Given the description of an element on the screen output the (x, y) to click on. 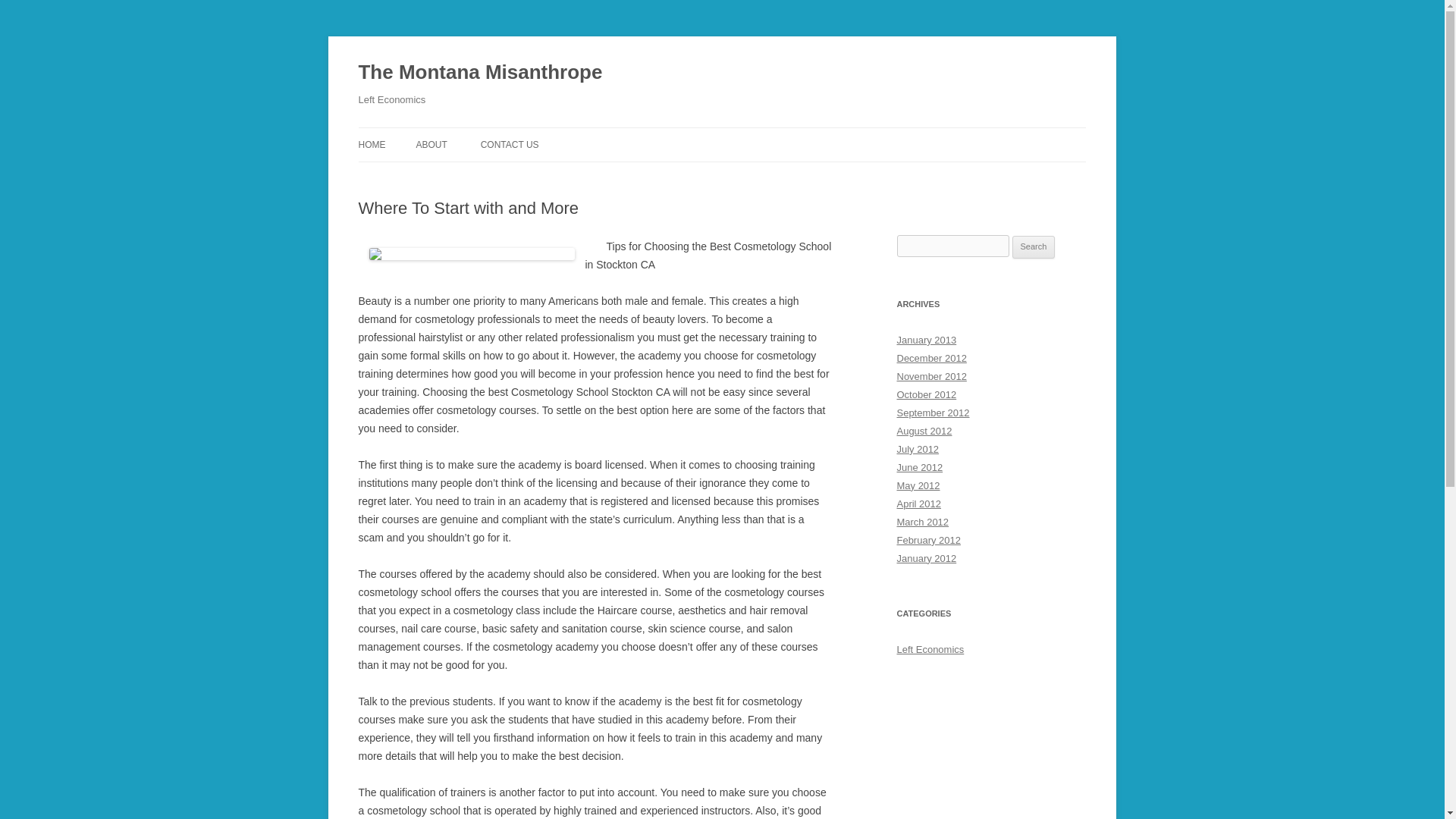
Left Economics (929, 649)
January 2012 (926, 558)
March 2012 (922, 521)
October 2012 (926, 394)
April 2012 (918, 503)
May 2012 (917, 485)
March 2012 (922, 521)
October 2012 (926, 394)
The Montana Misanthrope (480, 72)
